Given the description of an element on the screen output the (x, y) to click on. 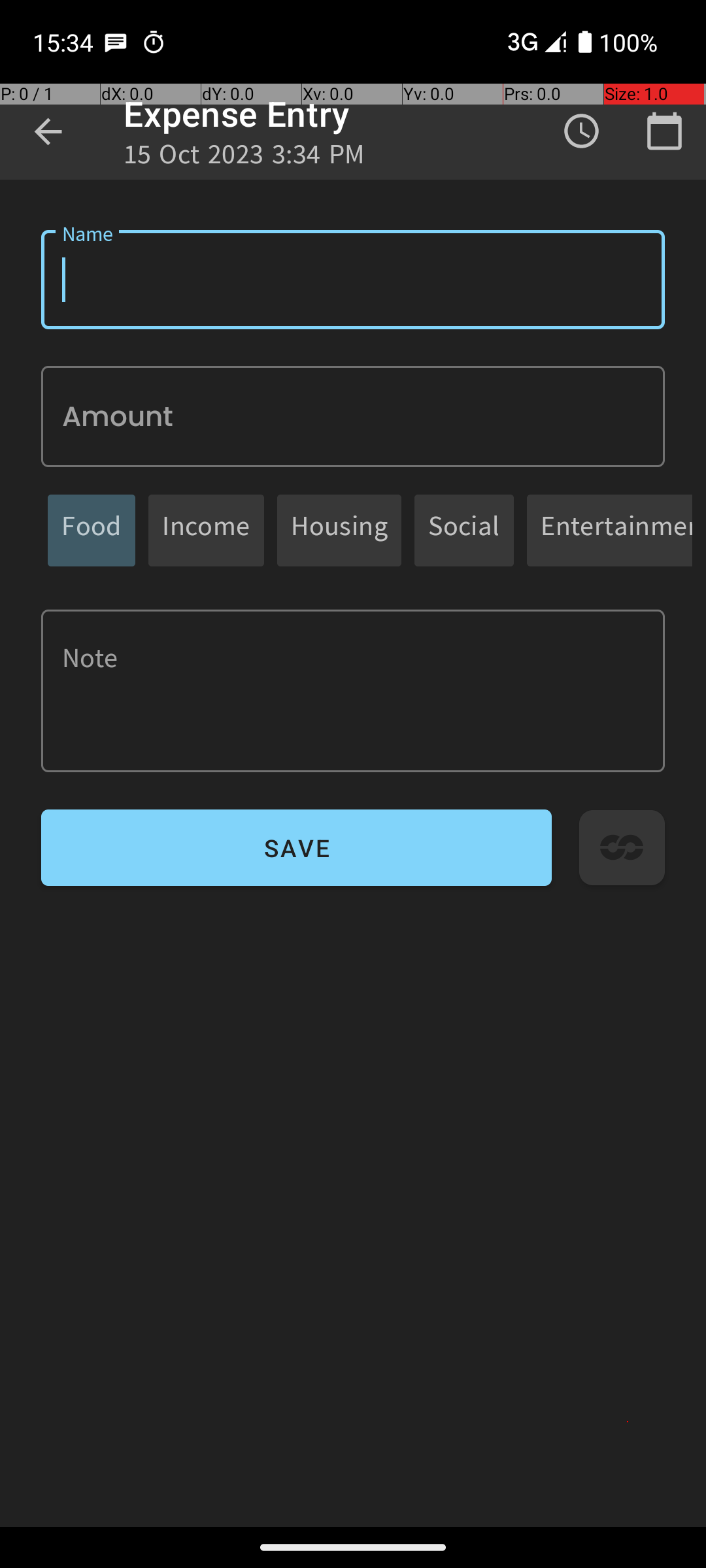
Expense Entry Element type: android.widget.TextView (236, 113)
15 Oct 2023 3:34 PM Element type: android.widget.TextView (244, 157)
Time Element type: android.widget.TextView (580, 131)
Name Element type: android.widget.EditText (352, 279)
SAVE Element type: android.widget.Button (296, 847)
Food Element type: android.widget.TextView (91, 530)
Income Element type: android.widget.TextView (206, 530)
Housing Element type: android.widget.TextView (338, 530)
Social Element type: android.widget.TextView (464, 530)
Entertainment Element type: android.widget.TextView (616, 530)
